Given the description of an element on the screen output the (x, y) to click on. 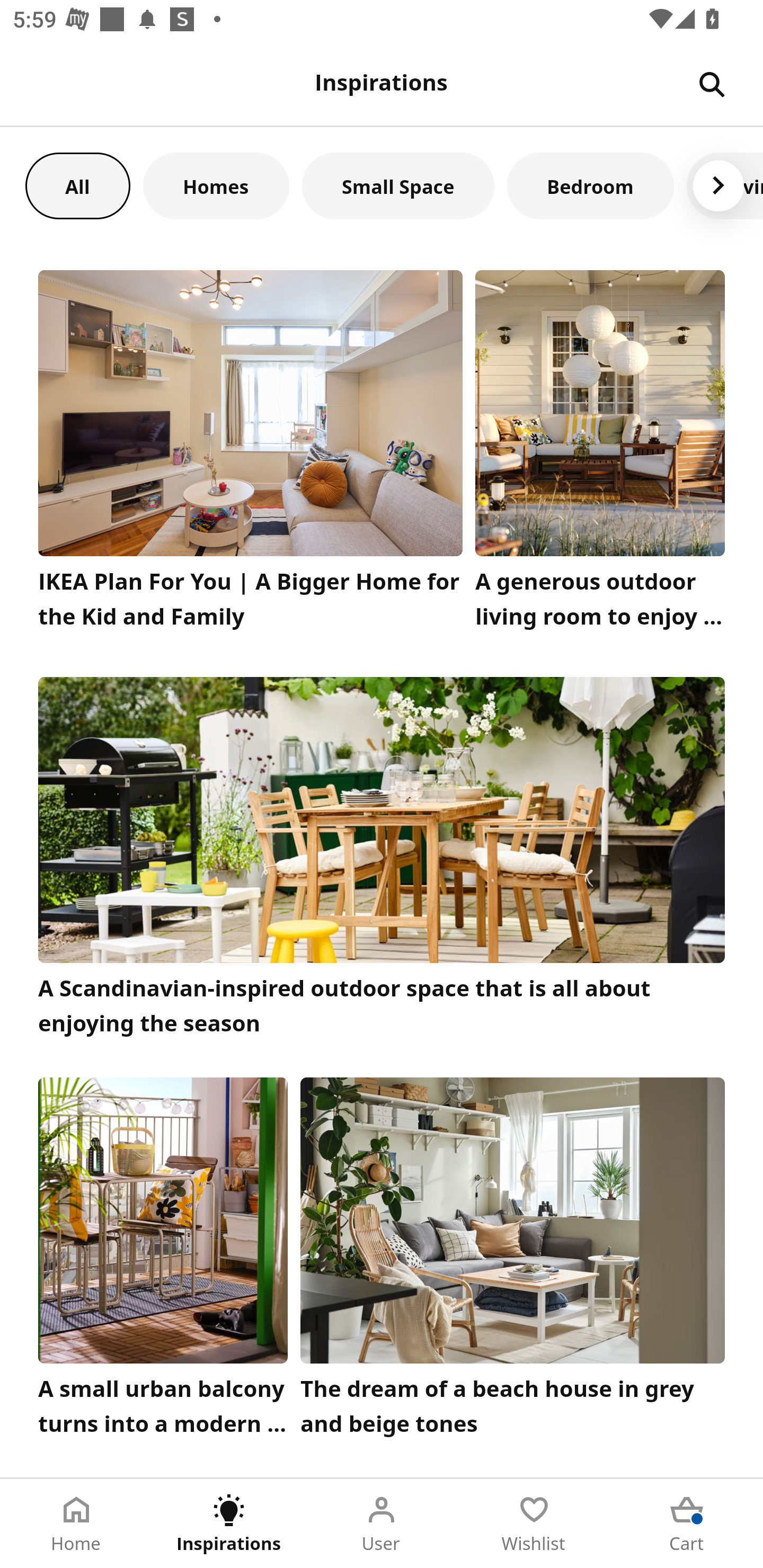
All (77, 185)
Homes (216, 185)
Small Space (398, 185)
Bedroom (590, 185)
The dream of a beach house in grey and beige tones (512, 1261)
Home
Tab 1 of 5 (76, 1522)
Inspirations
Tab 2 of 5 (228, 1522)
User
Tab 3 of 5 (381, 1522)
Wishlist
Tab 4 of 5 (533, 1522)
Cart
Tab 5 of 5 (686, 1522)
